Given the description of an element on the screen output the (x, y) to click on. 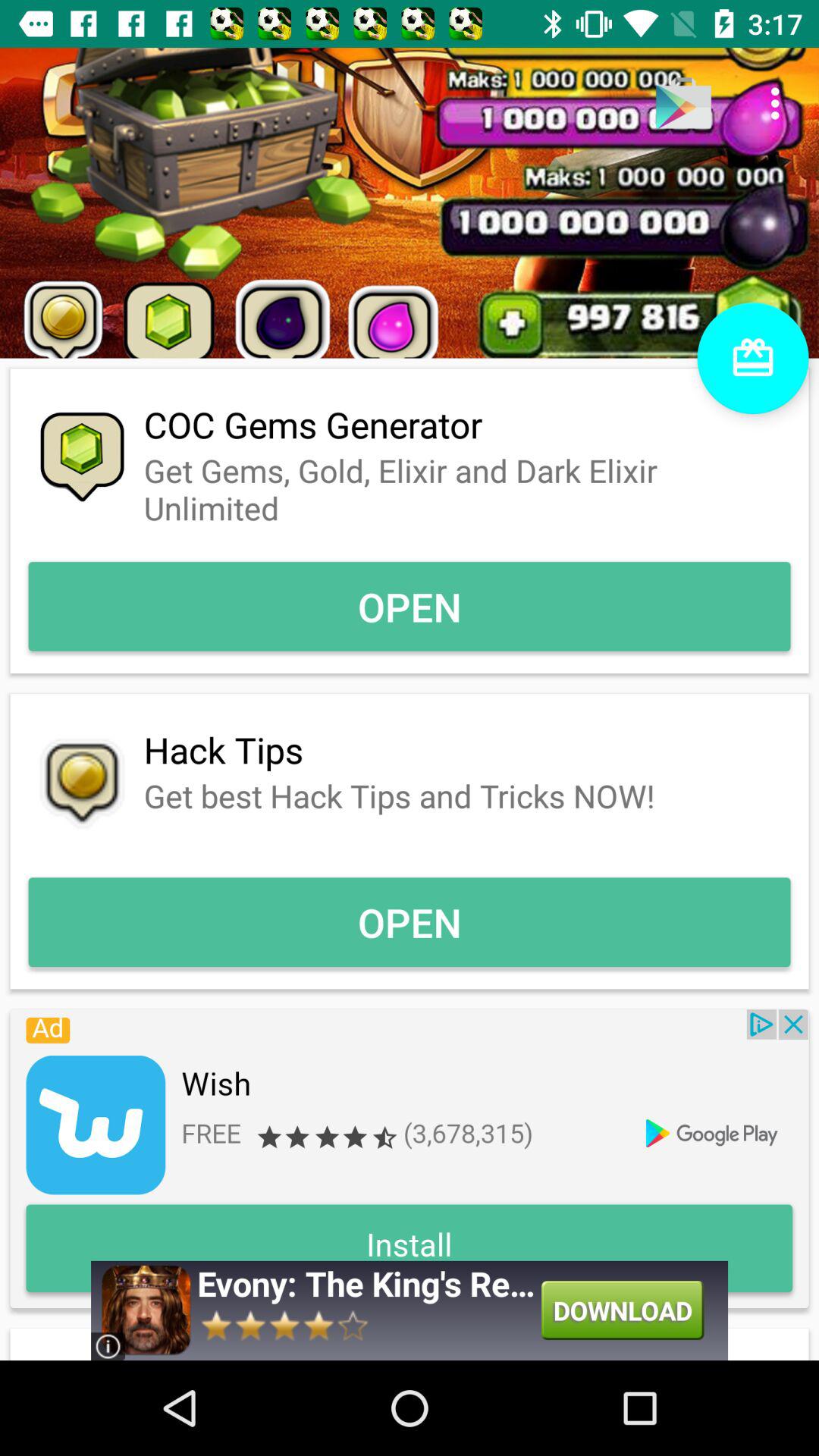
gift item (752, 358)
